Given the description of an element on the screen output the (x, y) to click on. 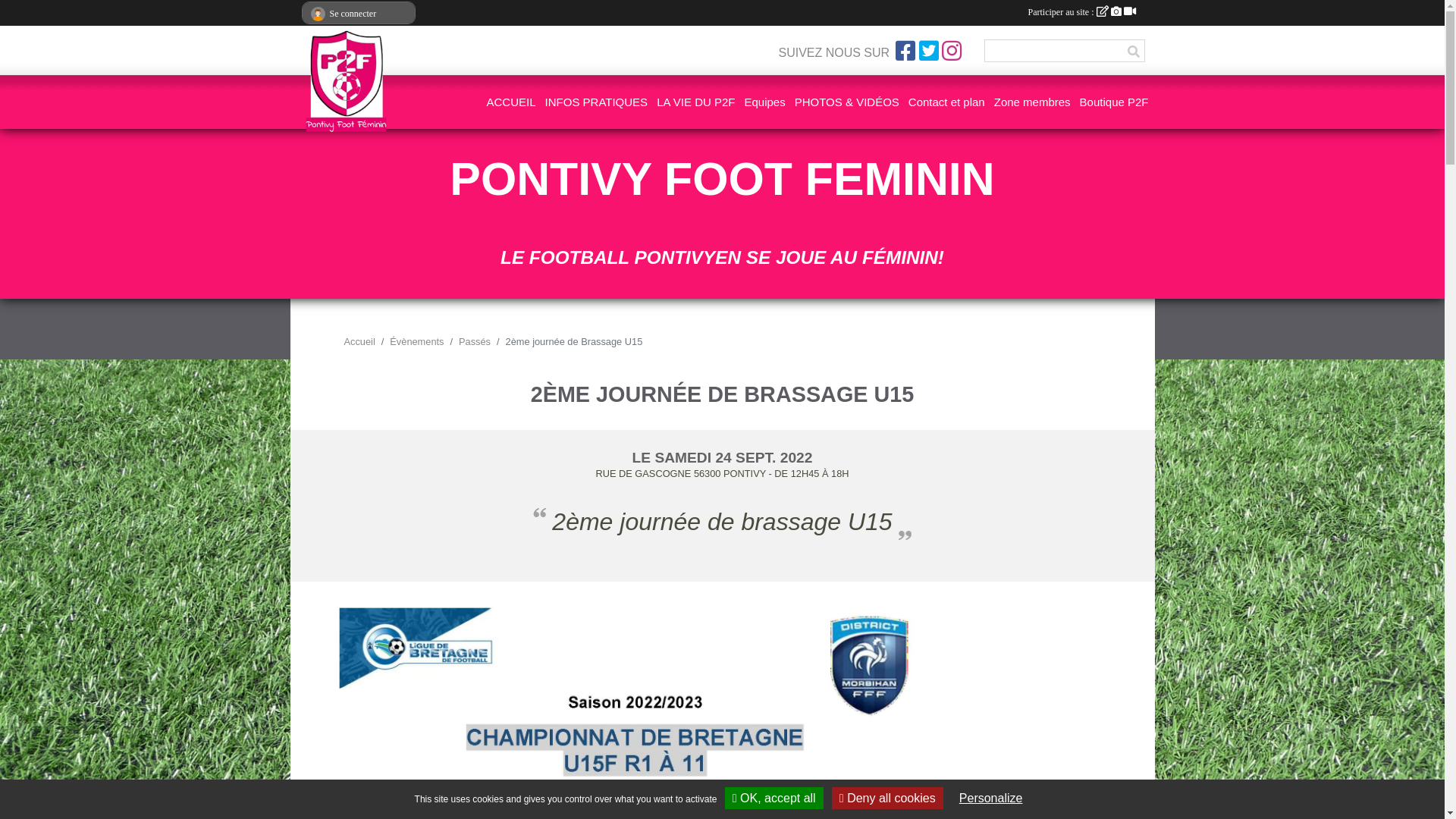
Compte Instagram de l'association Element type: hover (951, 50)
Boutique P2F Element type: text (1113, 101)
Personalize Element type: text (990, 798)
Se connecter Element type: text (357, 13)
INFOS PRATIQUES Element type: text (596, 101)
Participer au site : Element type: text (1081, 11)
Page Facebook de l'association Element type: hover (905, 50)
Contact et plan Element type: text (946, 101)
Zone membres Element type: text (1032, 101)
LA VIE DU P2F Element type: text (695, 101)
Accueil Element type: text (359, 341)
Equipes Element type: text (764, 101)
ACCUEIL Element type: text (511, 101)
Compte Twitter de l'association Element type: hover (928, 50)
